Given the description of an element on the screen output the (x, y) to click on. 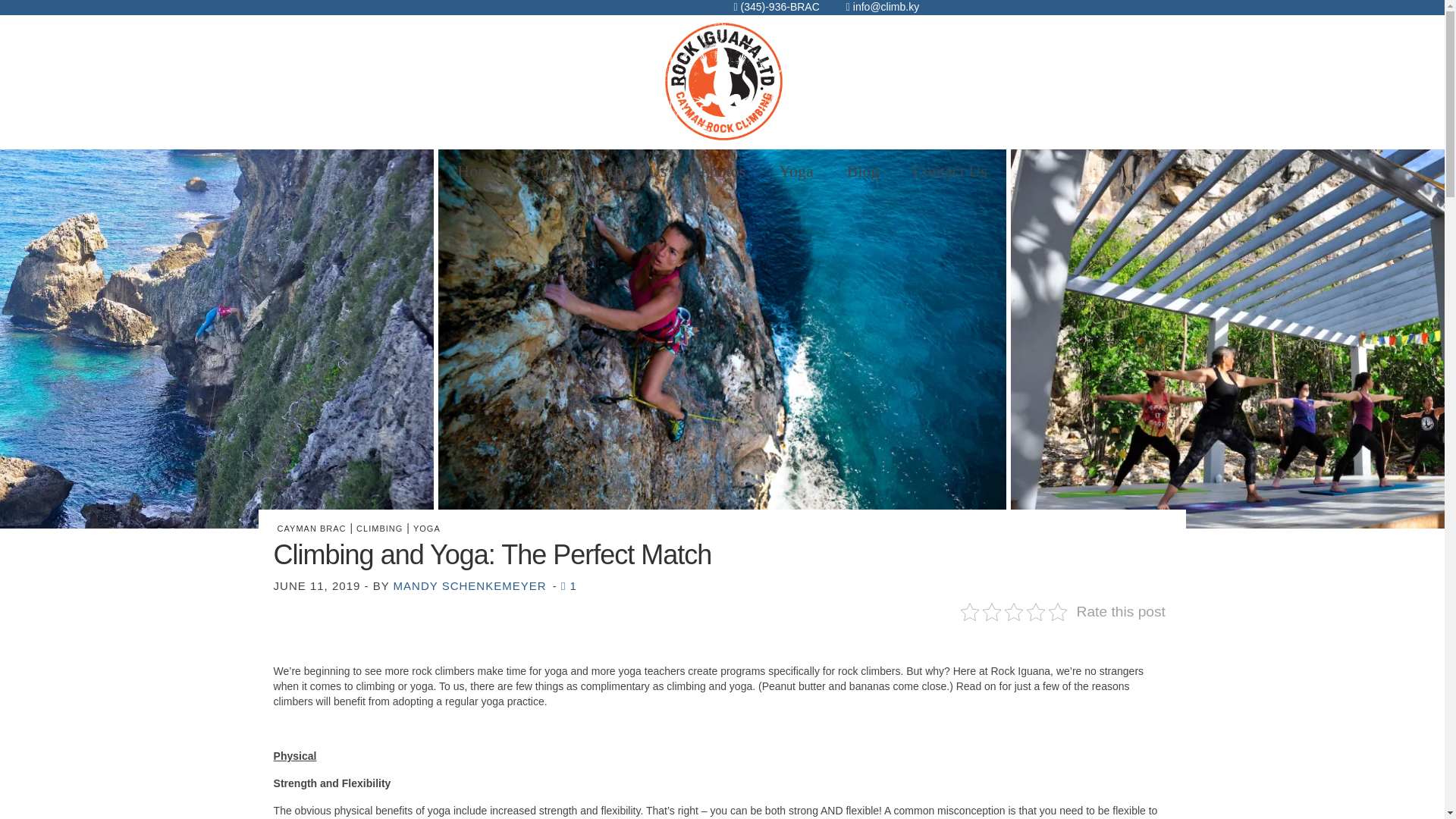
Blog (863, 171)
3 (740, 520)
1 (703, 520)
Photos (722, 171)
Contact Us (948, 171)
Yoga (795, 171)
About Us (635, 171)
2 (721, 520)
Tours (550, 171)
Home (477, 171)
